Given the description of an element on the screen output the (x, y) to click on. 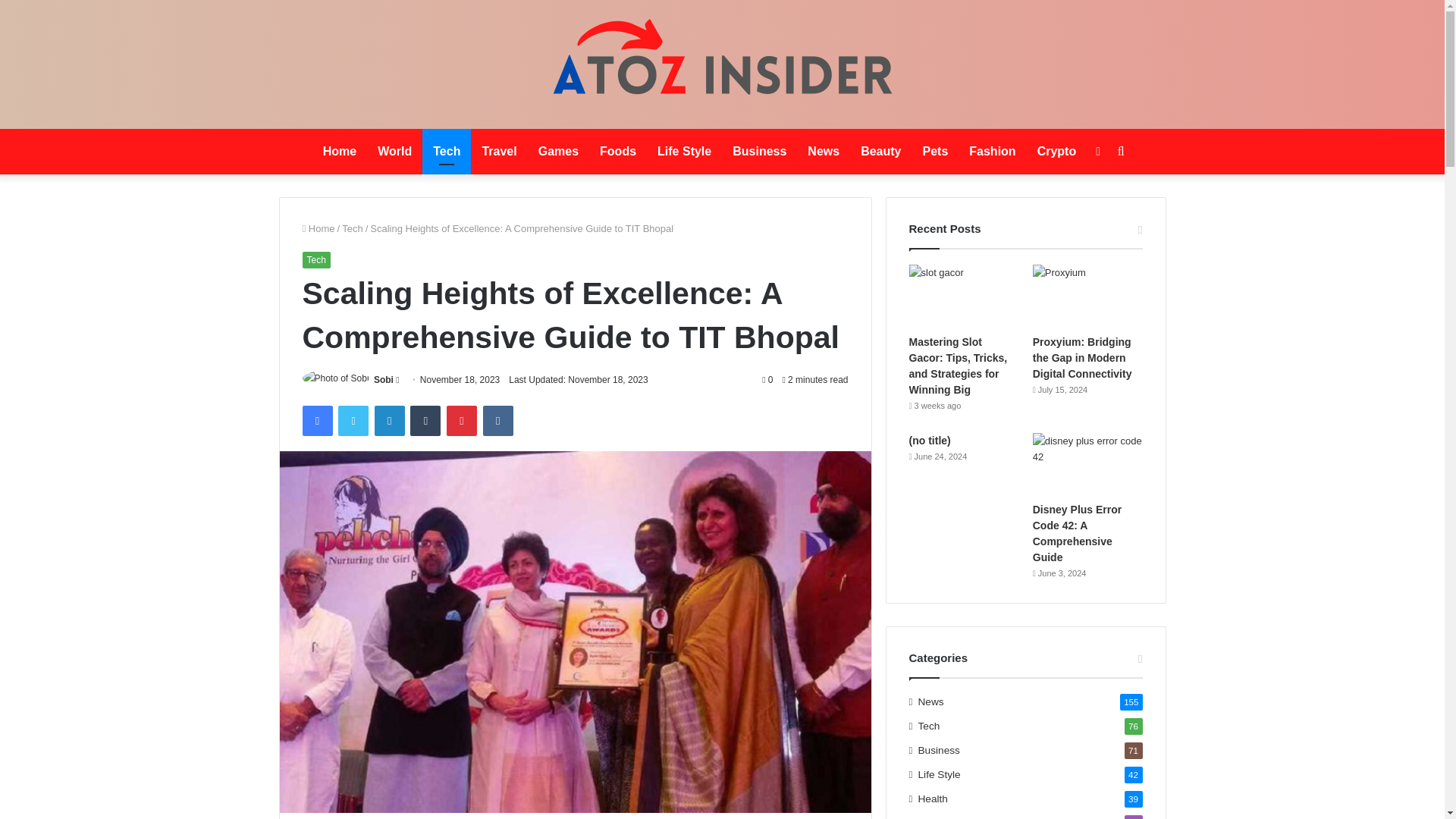
Fashion (992, 151)
Business (759, 151)
LinkedIn (389, 420)
Travel (498, 151)
World (394, 151)
LinkedIn (389, 420)
Pinterest (461, 420)
Tumblr (425, 420)
News (823, 151)
Beauty (880, 151)
